Given the description of an element on the screen output the (x, y) to click on. 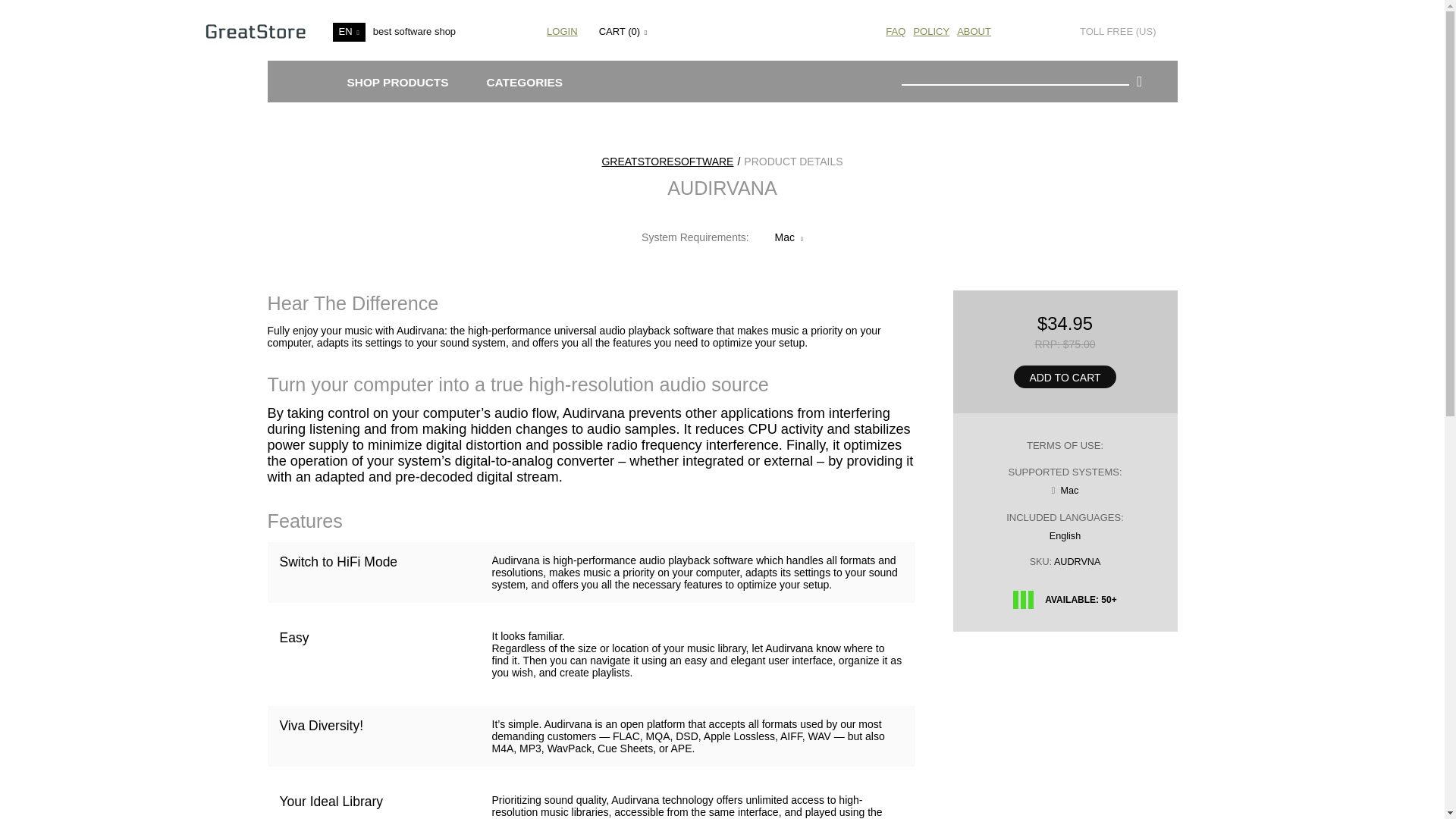
LOGIN (562, 30)
FAQ (895, 30)
ABOUT (973, 30)
POLICY (930, 30)
